Given the description of an element on the screen output the (x, y) to click on. 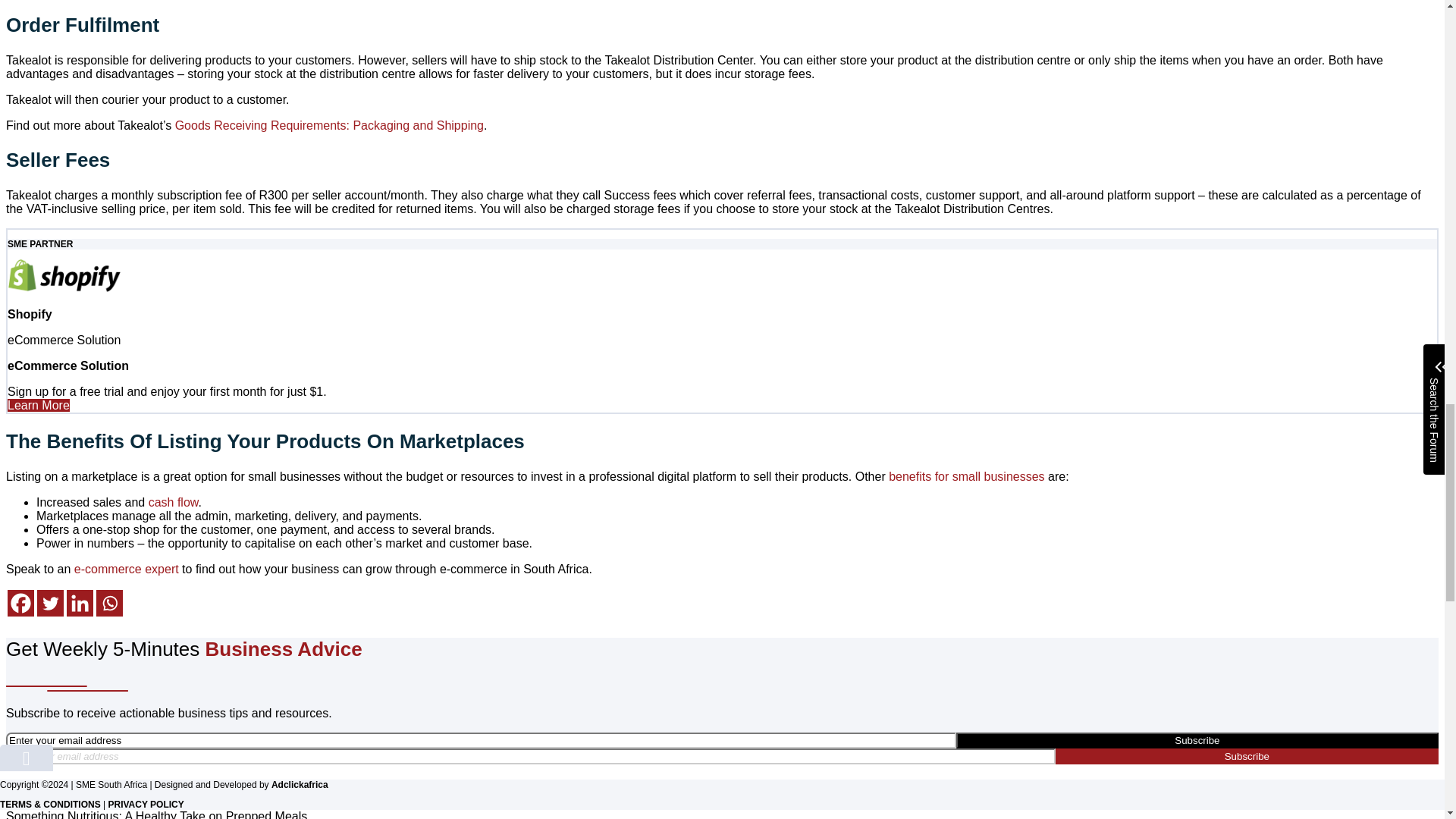
e-commerce expert (126, 568)
Learn More (38, 404)
benefits for small businesses (965, 476)
cash flow (173, 502)
Whatsapp (109, 602)
Facebook (20, 602)
Goods Receiving Requirements: Packaging and Shipping (328, 124)
Linkedin (79, 602)
Twitter (50, 602)
